Given the description of an element on the screen output the (x, y) to click on. 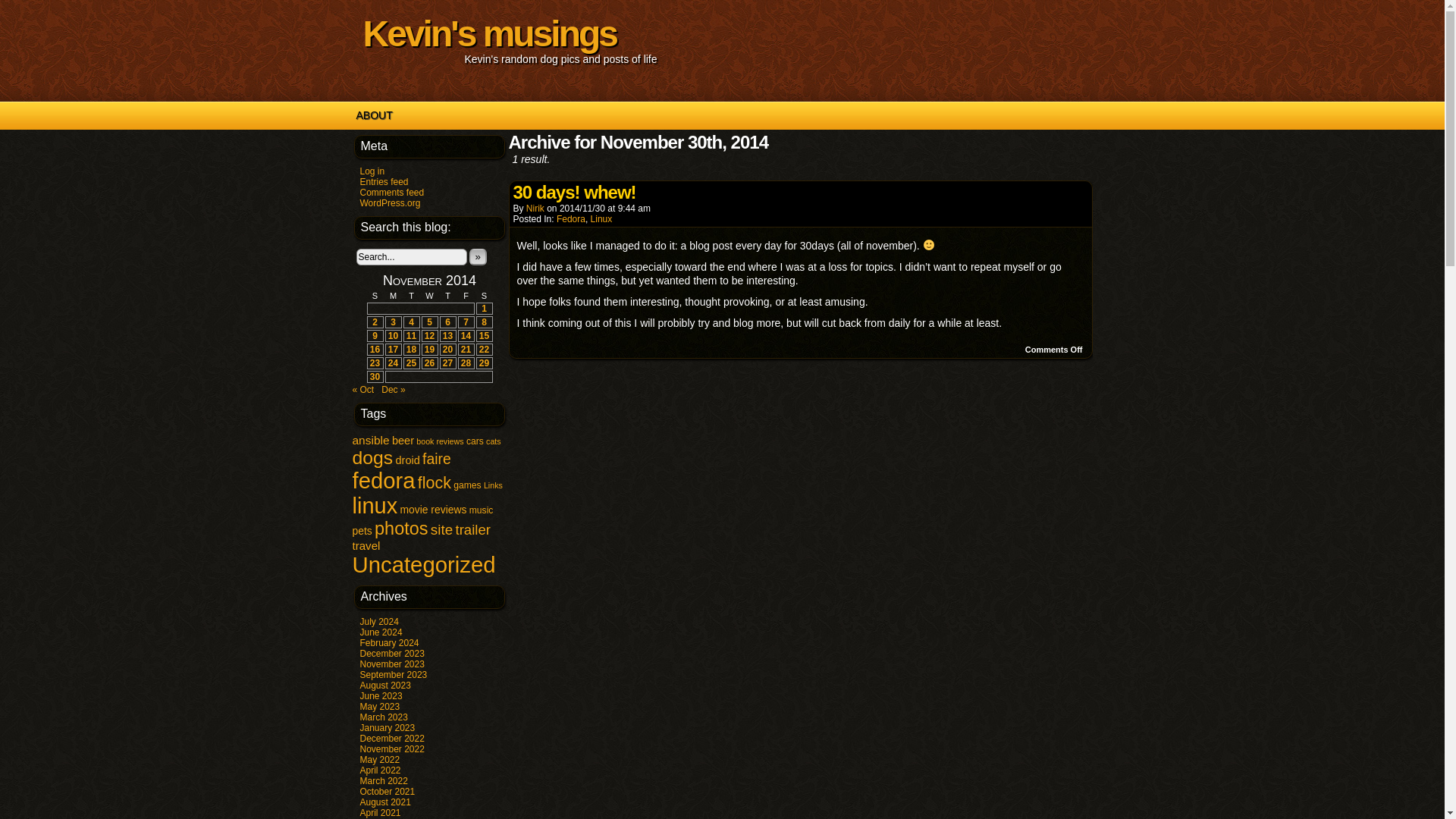
24 (392, 362)
8 (484, 321)
6 (446, 321)
Saturday (484, 295)
29 (484, 362)
12 (429, 335)
17 (392, 348)
23 (373, 362)
18 (411, 348)
20 (446, 348)
25 (411, 362)
14 (465, 335)
Tuesday (411, 295)
Search... (411, 256)
15 (484, 335)
